Given the description of an element on the screen output the (x, y) to click on. 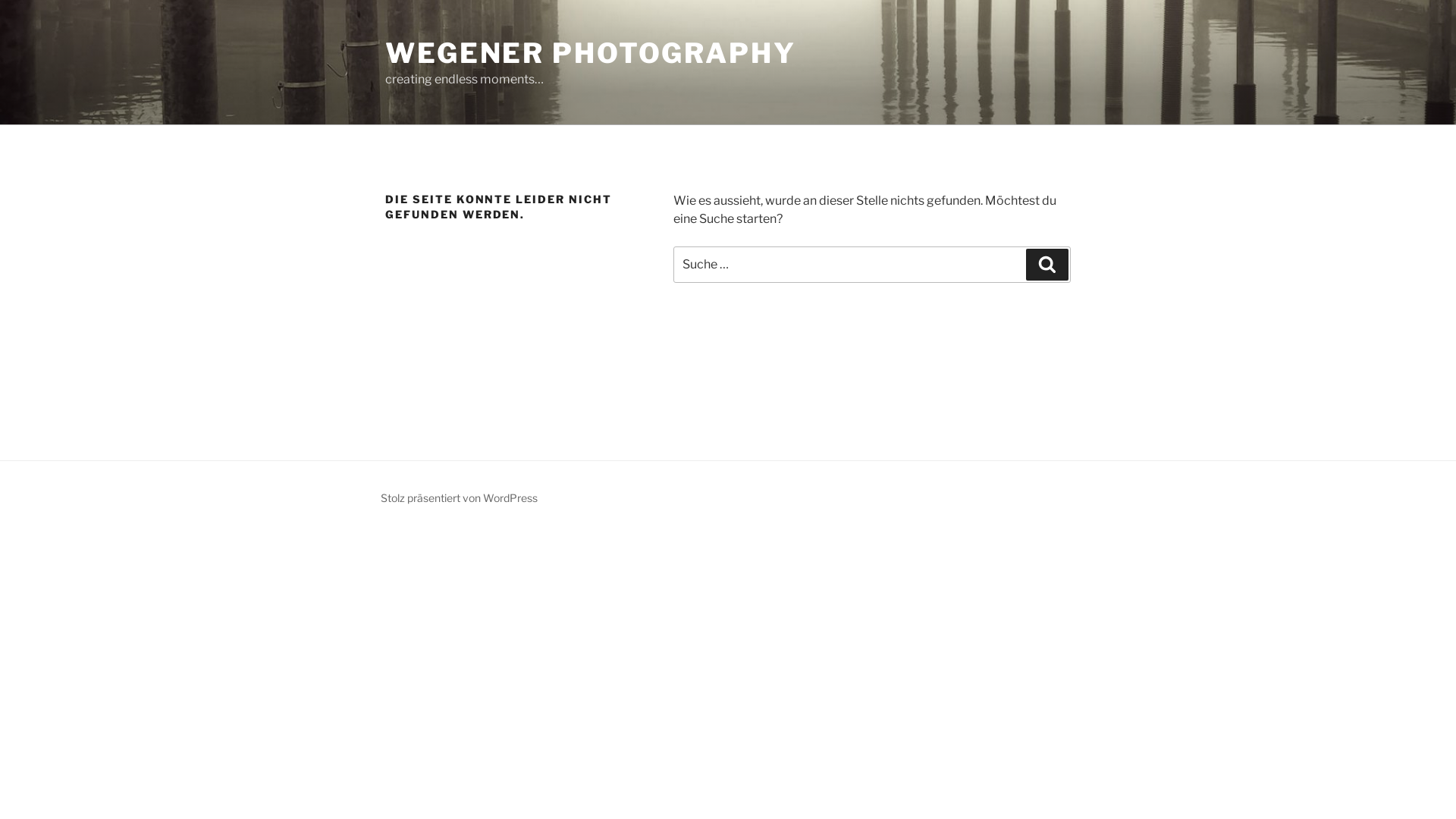
Zum Inhalt springen Element type: text (0, 0)
Suche Element type: text (1047, 264)
WEGENER PHOTOGRAPHY Element type: text (590, 52)
